Given the description of an element on the screen output the (x, y) to click on. 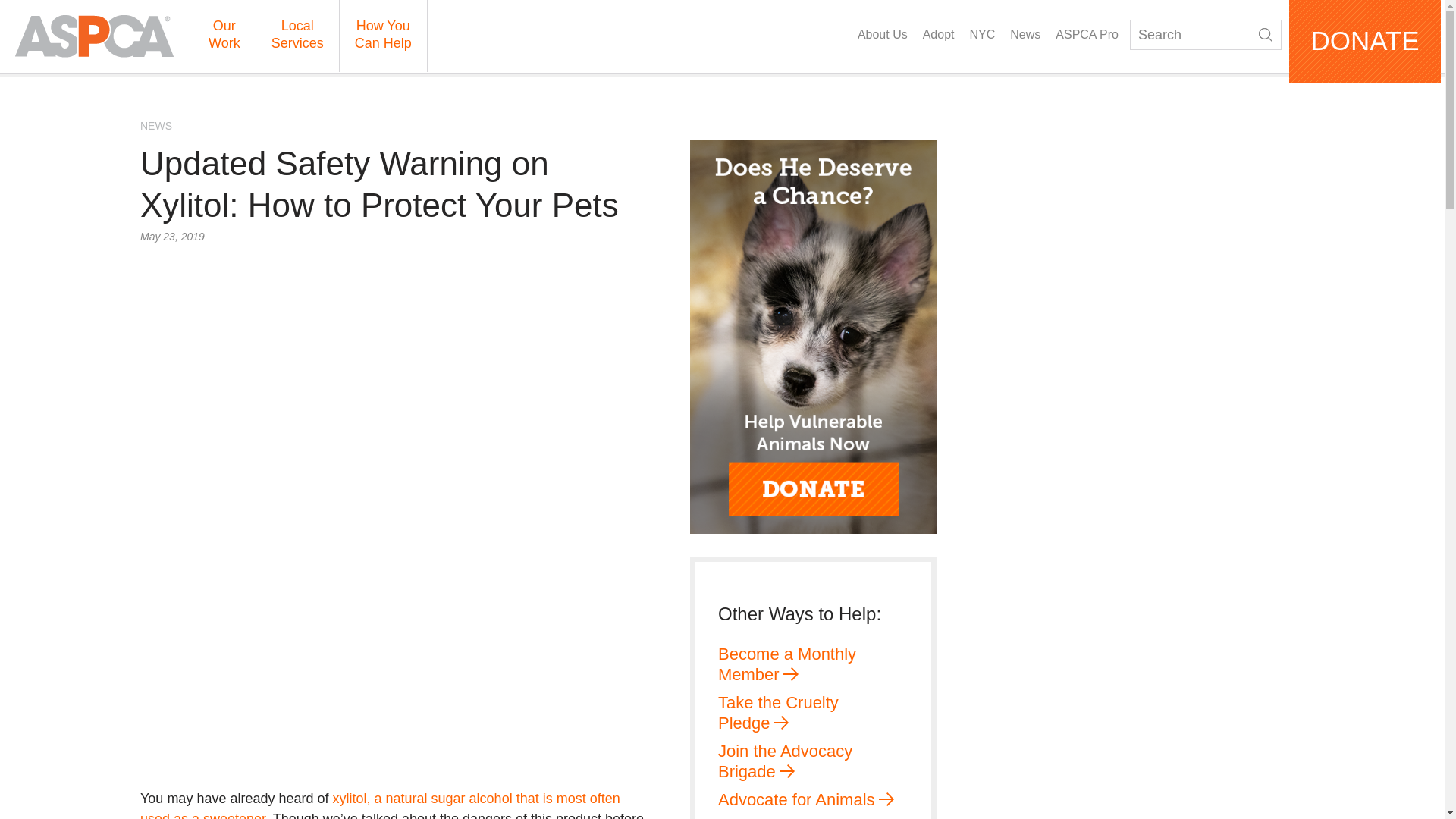
Search (1205, 34)
Search (1265, 34)
Home (93, 36)
